Given the description of an element on the screen output the (x, y) to click on. 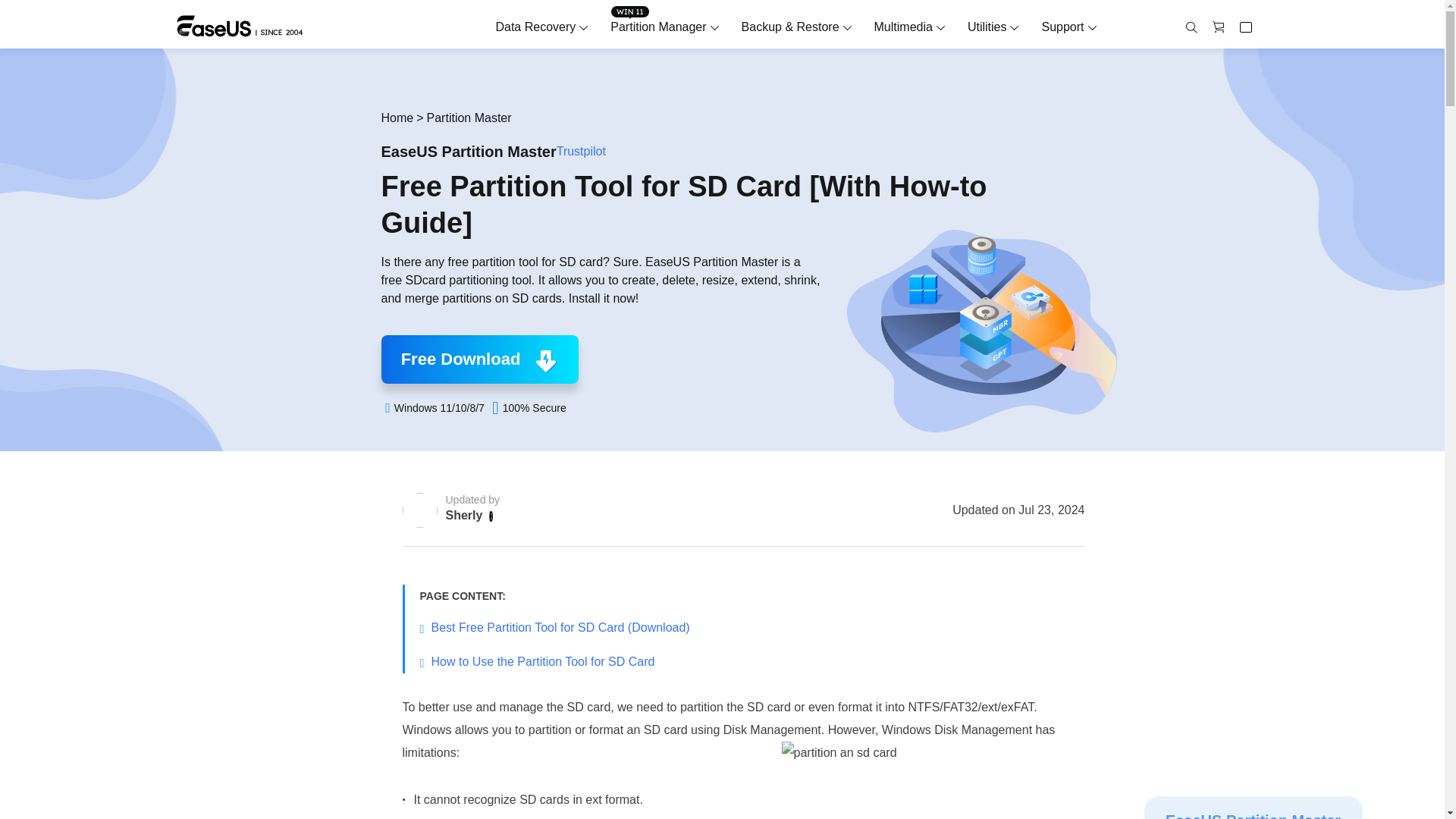
Partition Manager (657, 26)
Data Recovery (534, 26)
